Given the description of an element on the screen output the (x, y) to click on. 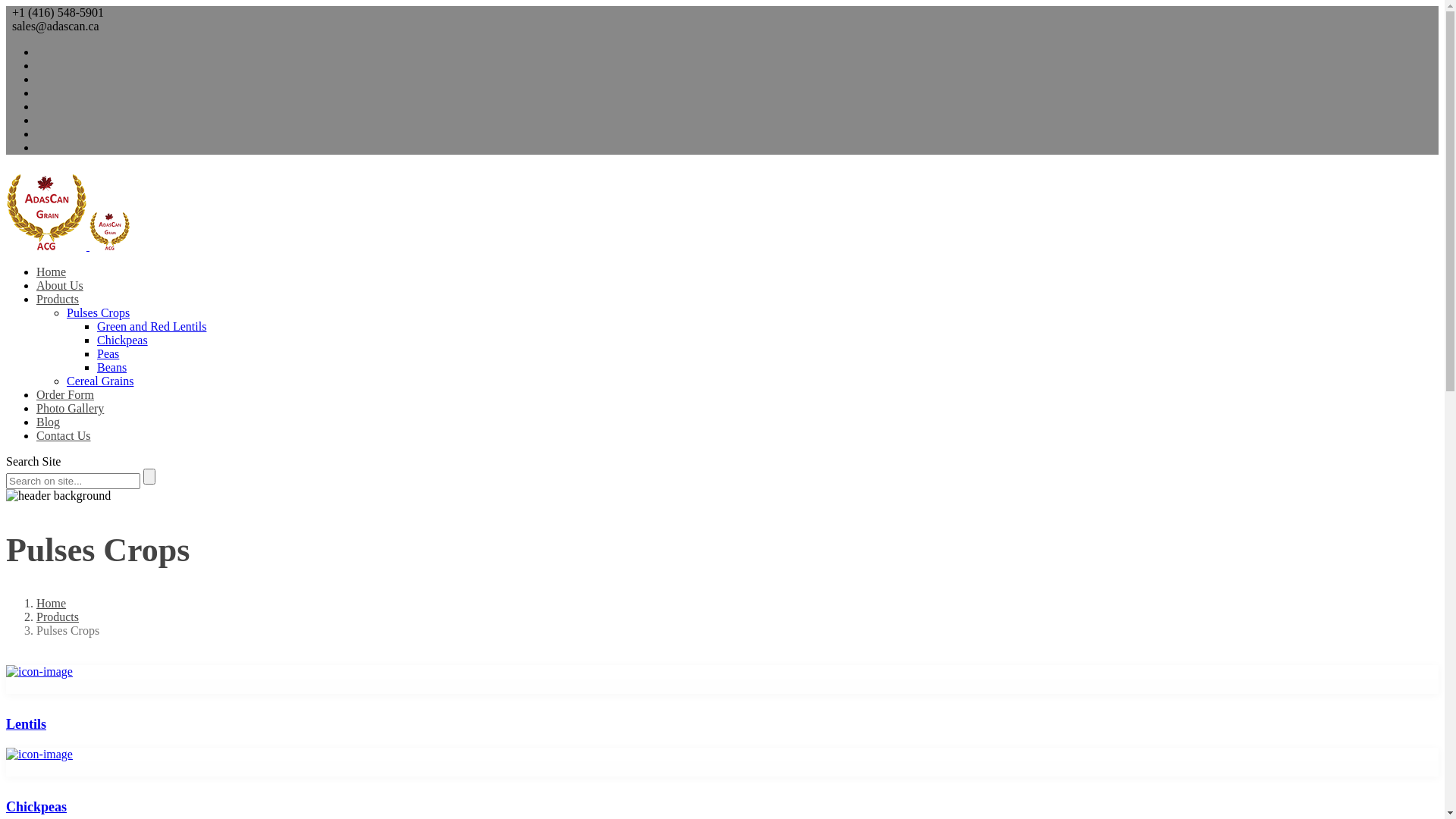
Photo Gallery Element type: text (69, 407)
Home Element type: text (50, 602)
Pulses Crops Element type: text (97, 312)
Blog Element type: text (47, 421)
Order Form Element type: text (65, 394)
About Us Element type: text (59, 285)
Green and Red Lentils Element type: text (151, 326)
Lentils Element type: text (722, 698)
Contact Us Element type: text (63, 435)
Products Element type: text (57, 616)
Products Element type: text (57, 298)
Cereal Grains Element type: text (99, 380)
Home Element type: text (50, 271)
Peas Element type: text (108, 353)
Chickpeas Element type: text (122, 339)
Chickpeas Element type: text (722, 781)
Beans Element type: text (111, 366)
